Given the description of an element on the screen output the (x, y) to click on. 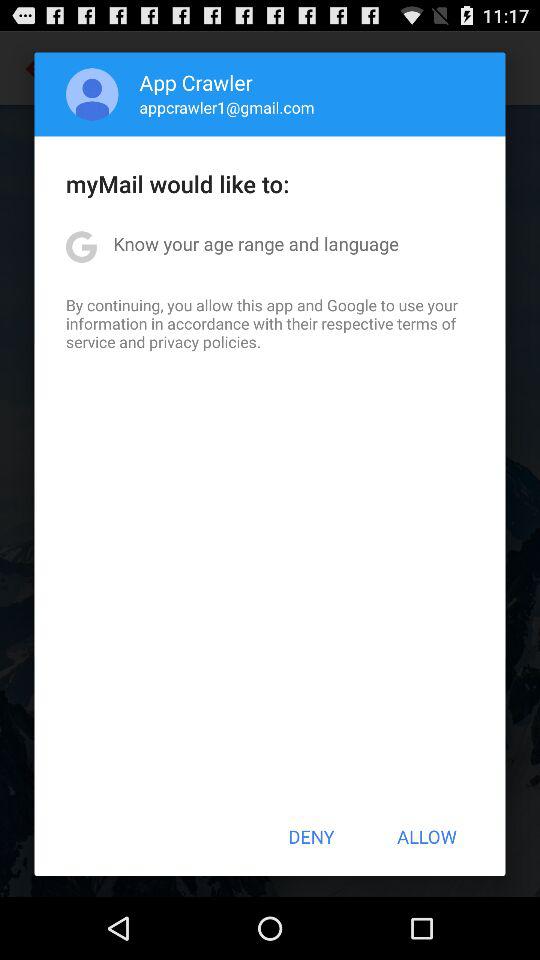
flip until the app crawler item (195, 82)
